Given the description of an element on the screen output the (x, y) to click on. 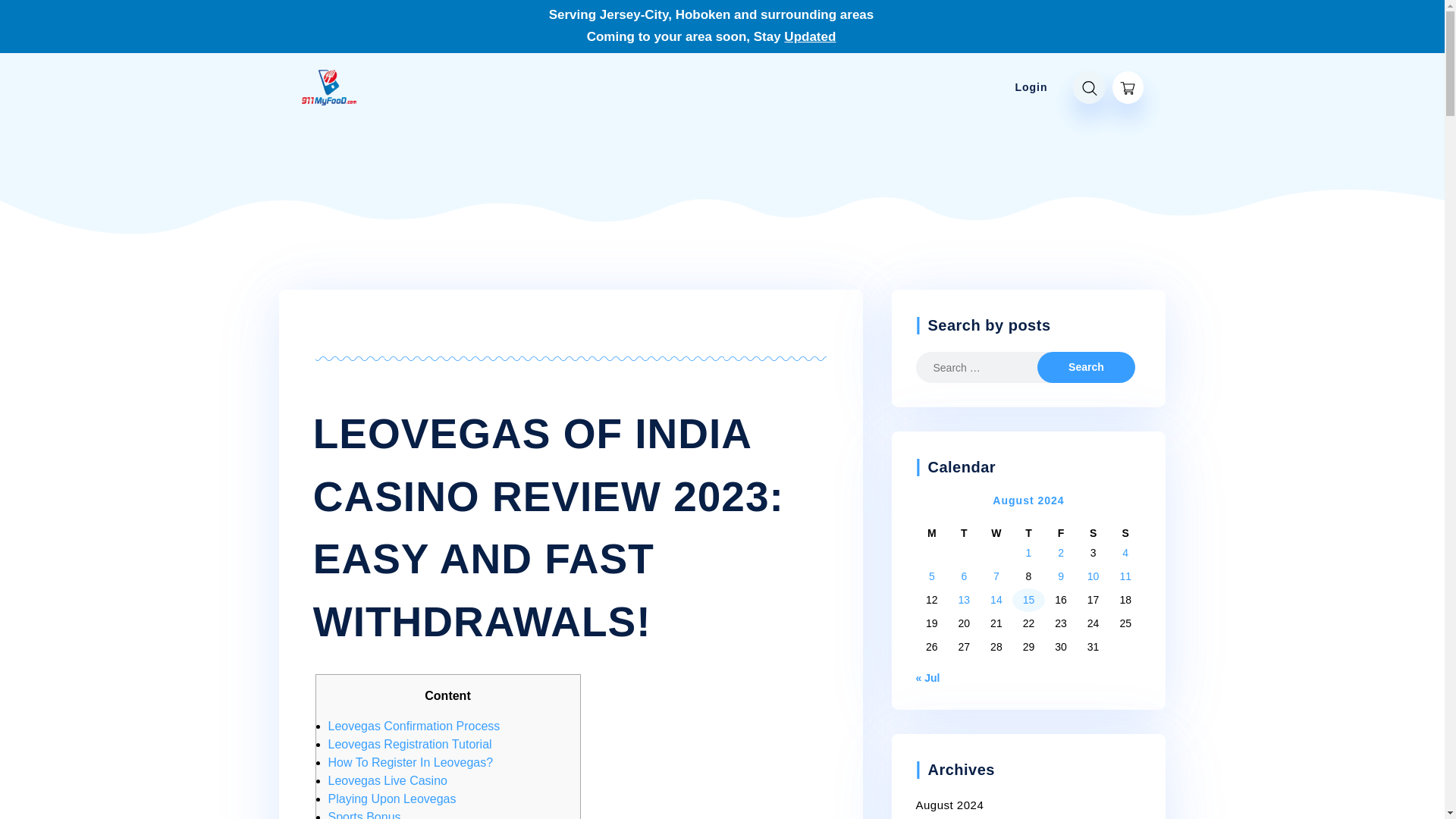
Sunday (1125, 533)
Playing Upon Leovegas (391, 798)
Login (1031, 87)
Search (1085, 367)
Leovegas Confirmation Process (413, 725)
Search (1085, 367)
Sports Bonus (363, 814)
Leovegas Live Casino (386, 780)
Thursday (1028, 533)
Search for: (988, 367)
